Given the description of an element on the screen output the (x, y) to click on. 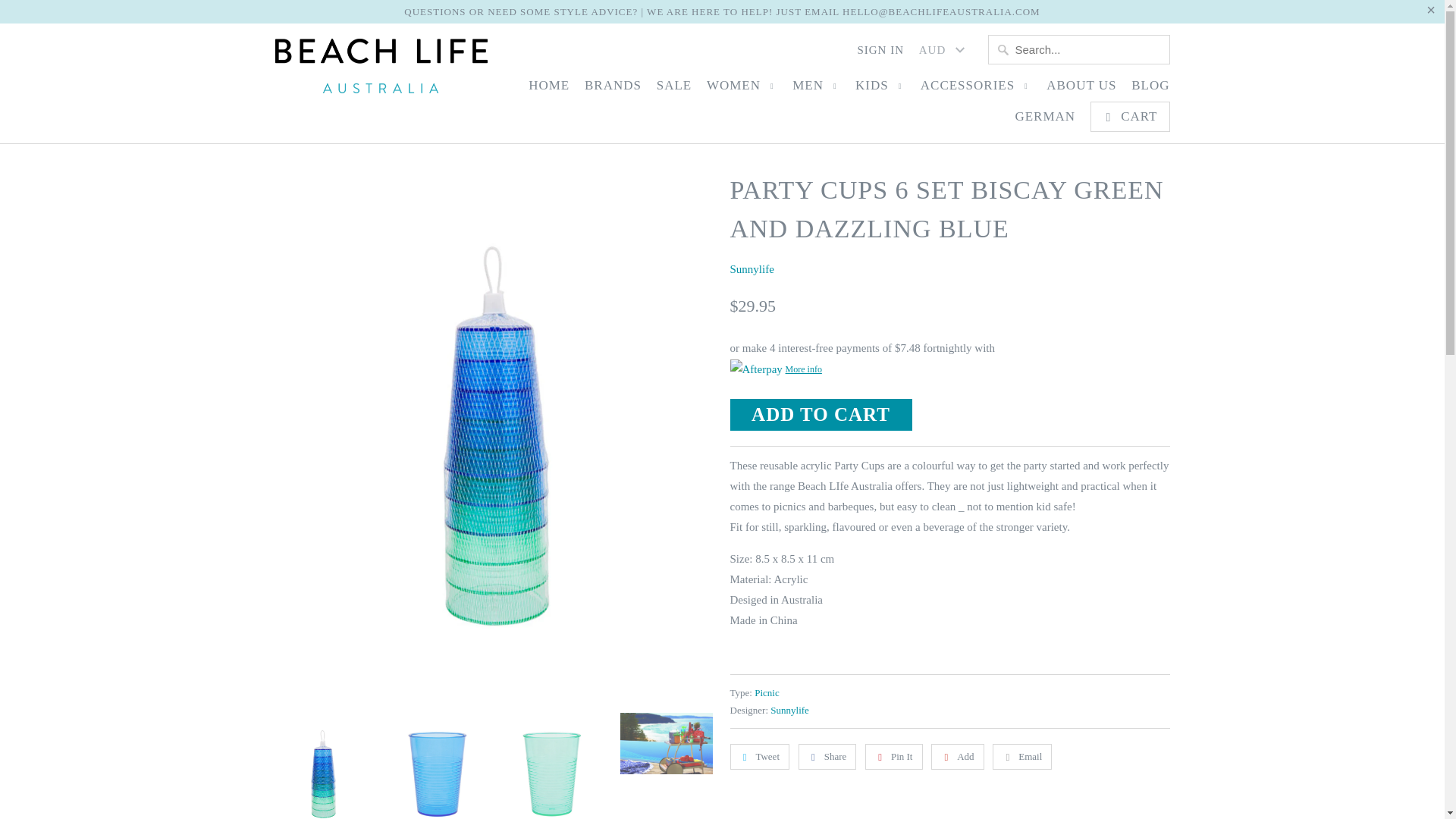
HOME (548, 88)
Beach Life Australia (380, 69)
Cart (1130, 116)
SALE (674, 88)
SIGN IN (880, 53)
BRANDS (613, 88)
WOMEN (741, 89)
